Given the description of an element on the screen output the (x, y) to click on. 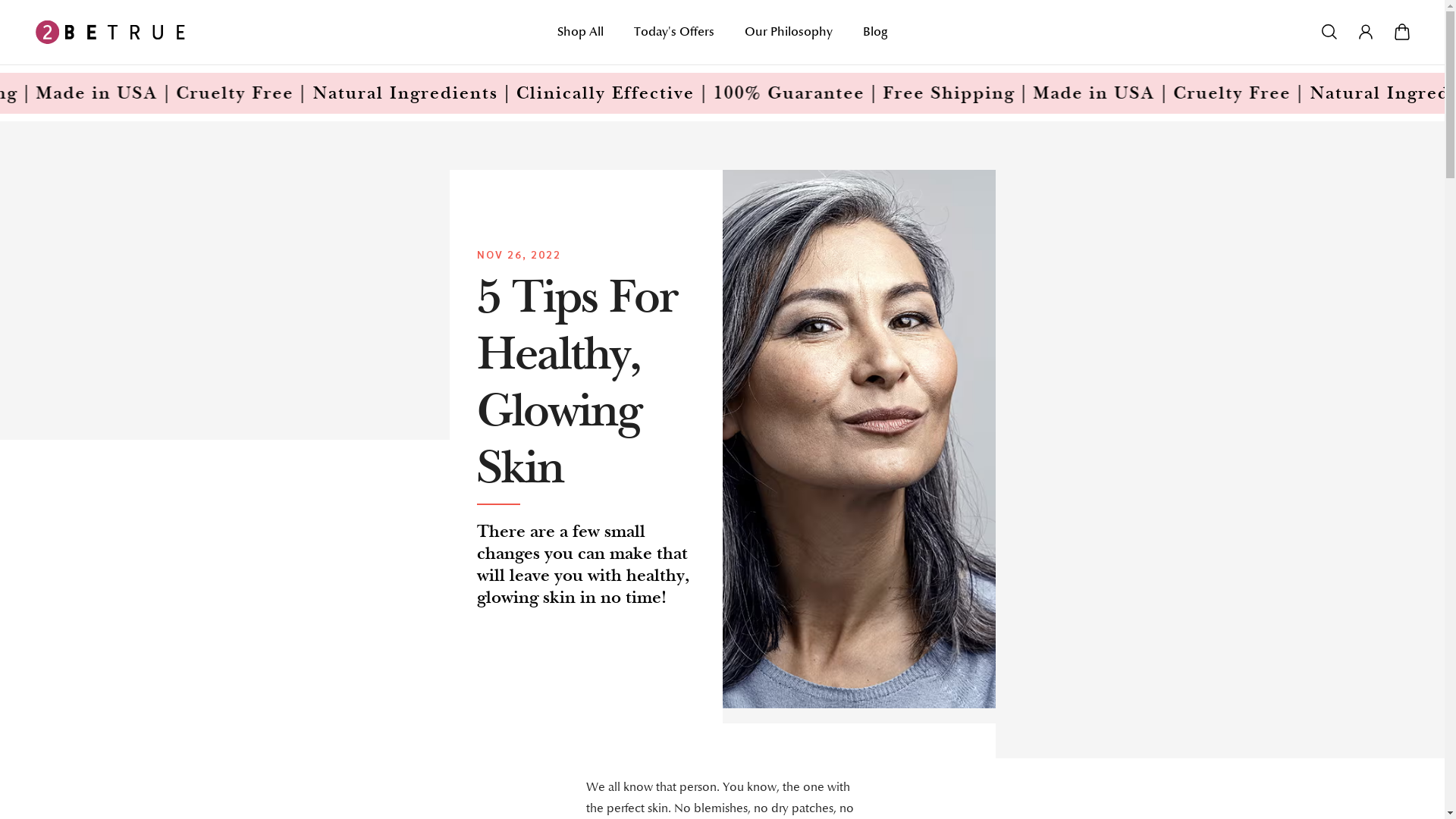
Blog Element type: text (874, 39)
Our Philosophy Element type: text (788, 39)
Today's Offers Element type: text (673, 39)
Shop All Element type: text (580, 39)
